Given the description of an element on the screen output the (x, y) to click on. 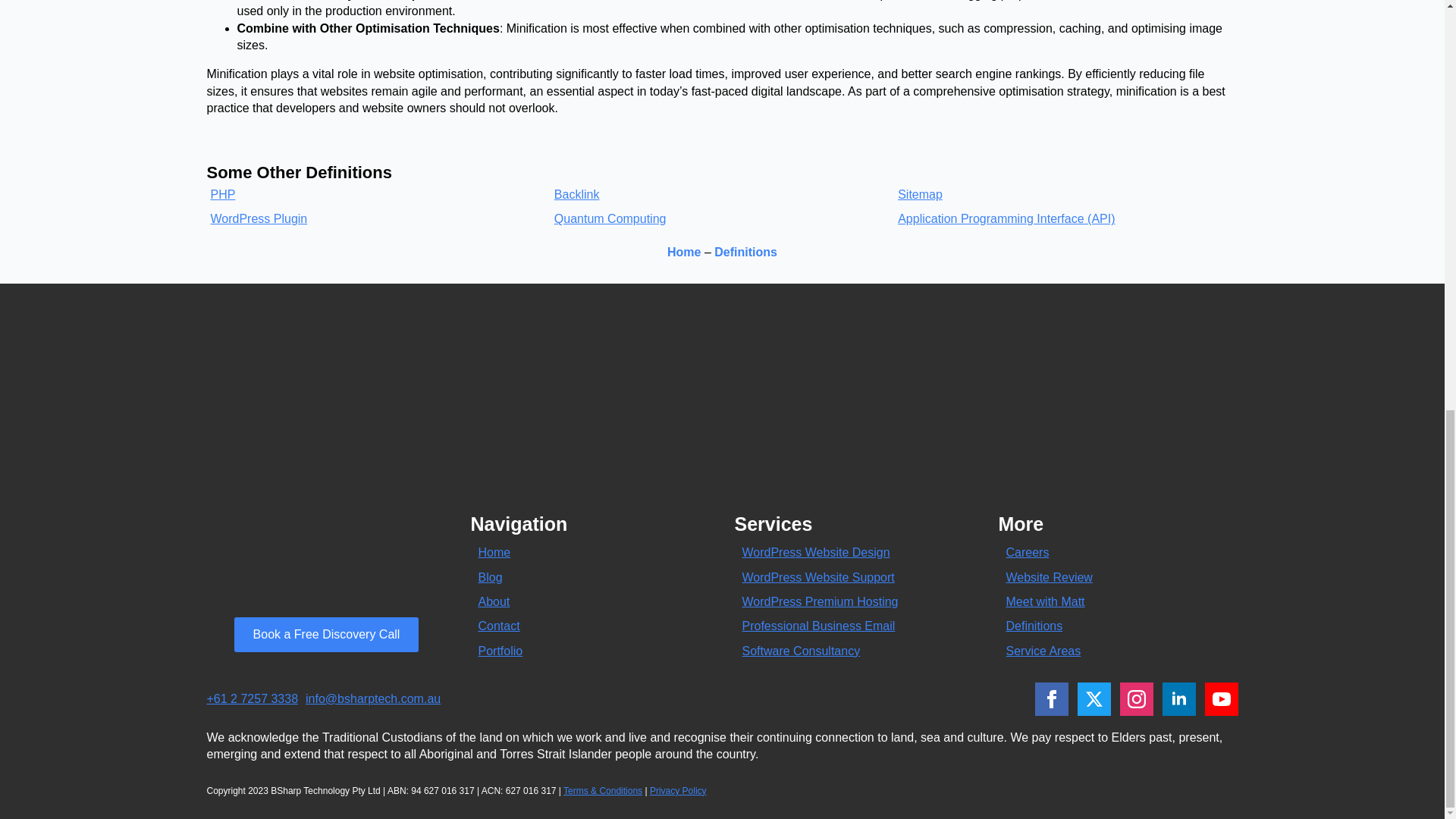
Sitemap (920, 194)
PHP (223, 194)
Quantum Computing (610, 218)
WordPress Website Design (815, 552)
Backlink (576, 194)
Software Consultancy (800, 651)
WordPress Website Support (817, 577)
Portfolio (499, 651)
Home (494, 552)
Professional Business Email (818, 626)
Blog (489, 577)
Definitions (745, 251)
About (493, 601)
WordPress Premium Hosting (819, 601)
Book a Free Discovery Call (326, 634)
